Given the description of an element on the screen output the (x, y) to click on. 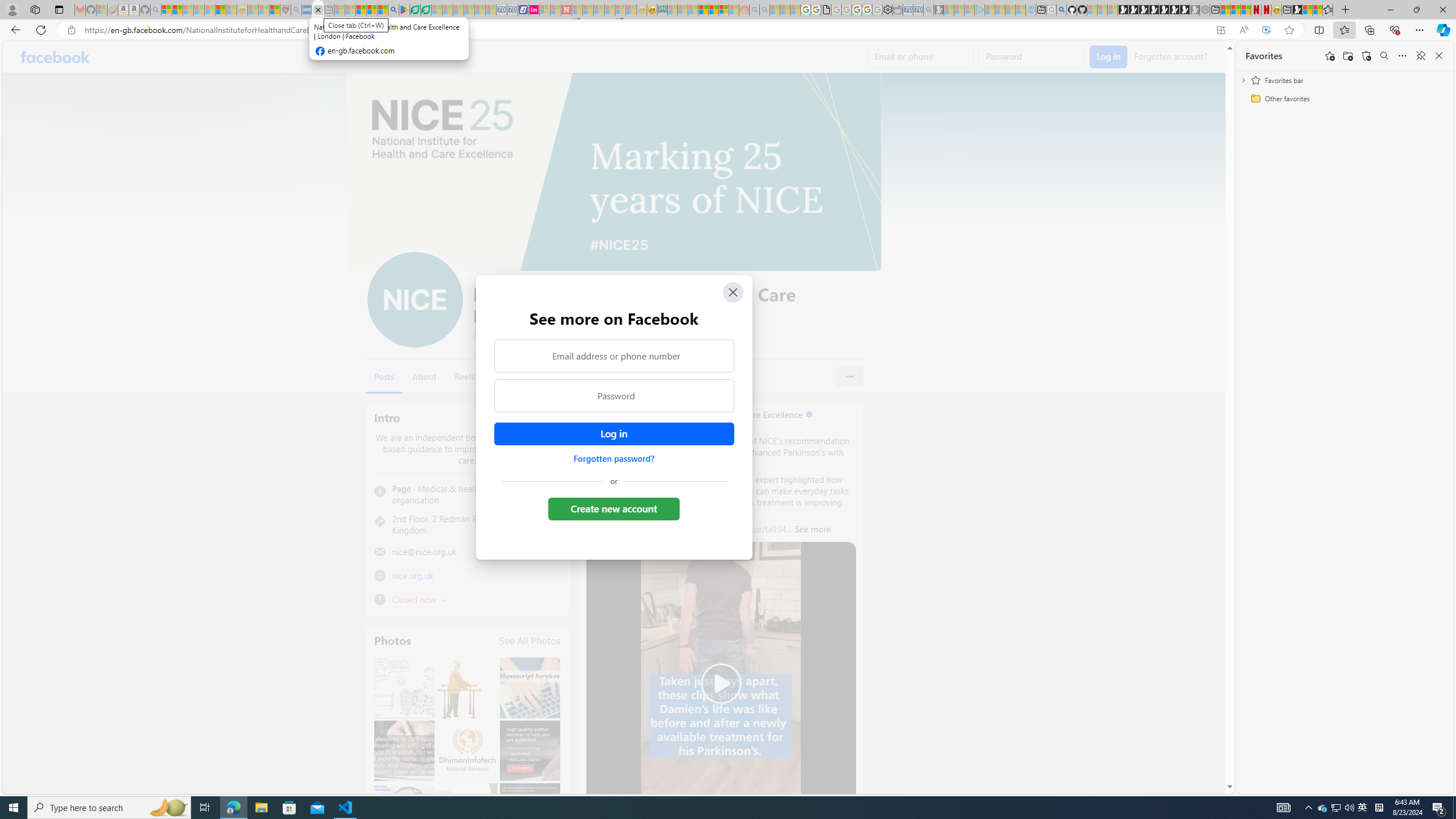
Forgotten password? (613, 458)
Unpin favorites (1420, 55)
